Given the description of an element on the screen output the (x, y) to click on. 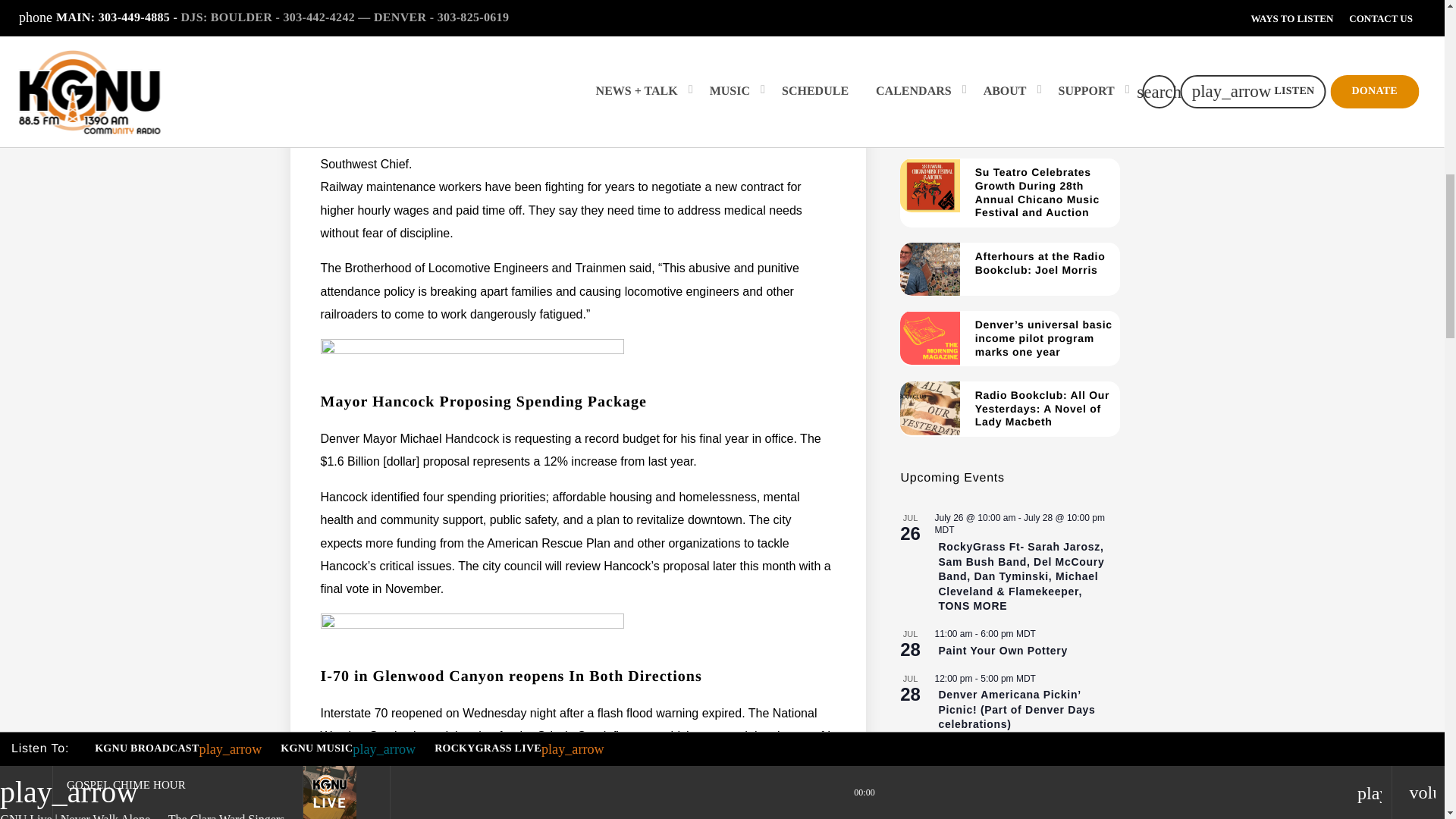
Event Series (1039, 751)
Paint Your Own Pottery (1002, 650)
Bootstrap LOCO Ukulele Jam in Longmont (1026, 776)
